Given the description of an element on the screen output the (x, y) to click on. 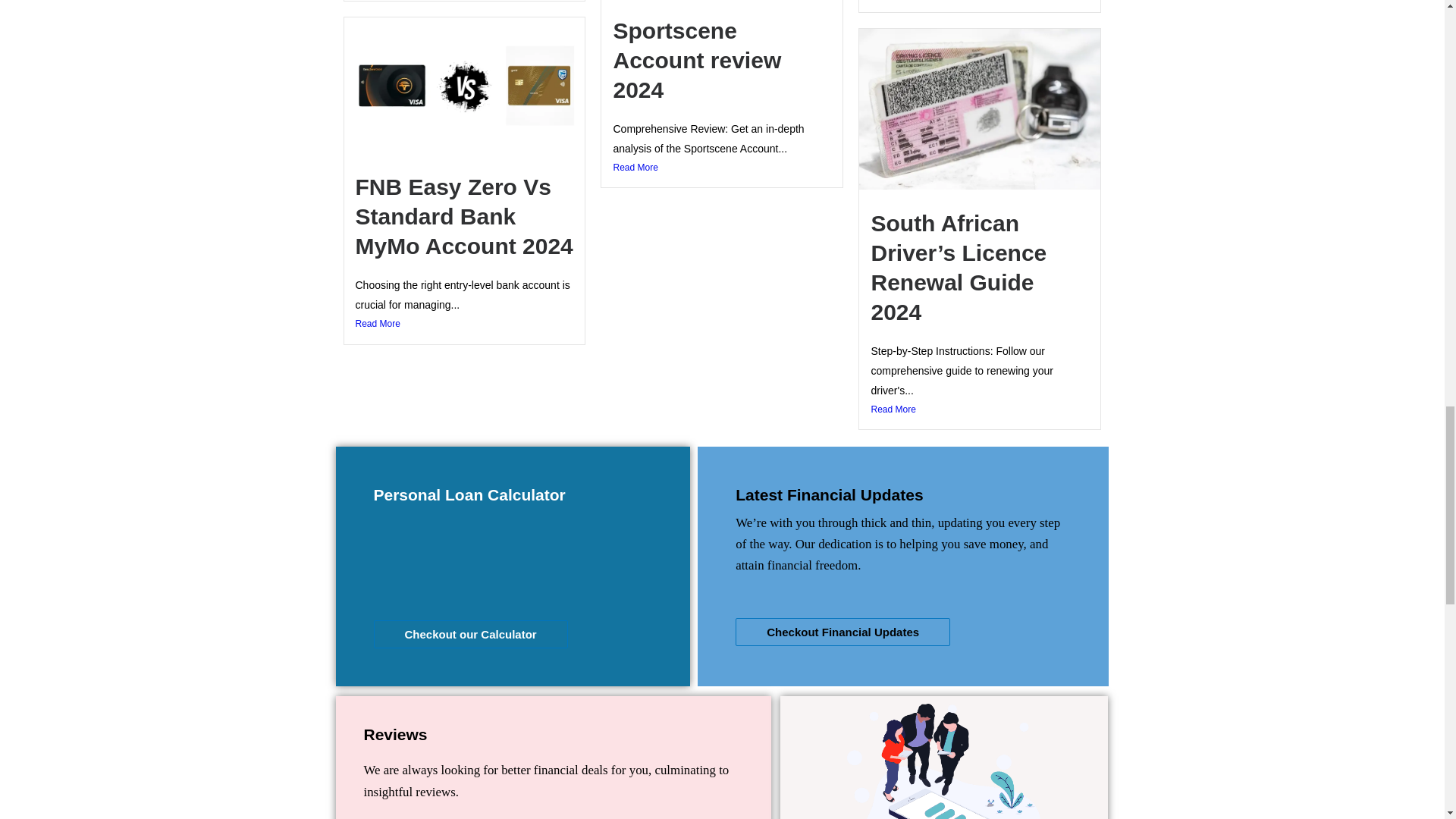
FNB Easy Zero Vs Standard Bank MyMo Account 2024 (463, 216)
Sportscene Account review 2024 (696, 60)
